Given the description of an element on the screen output the (x, y) to click on. 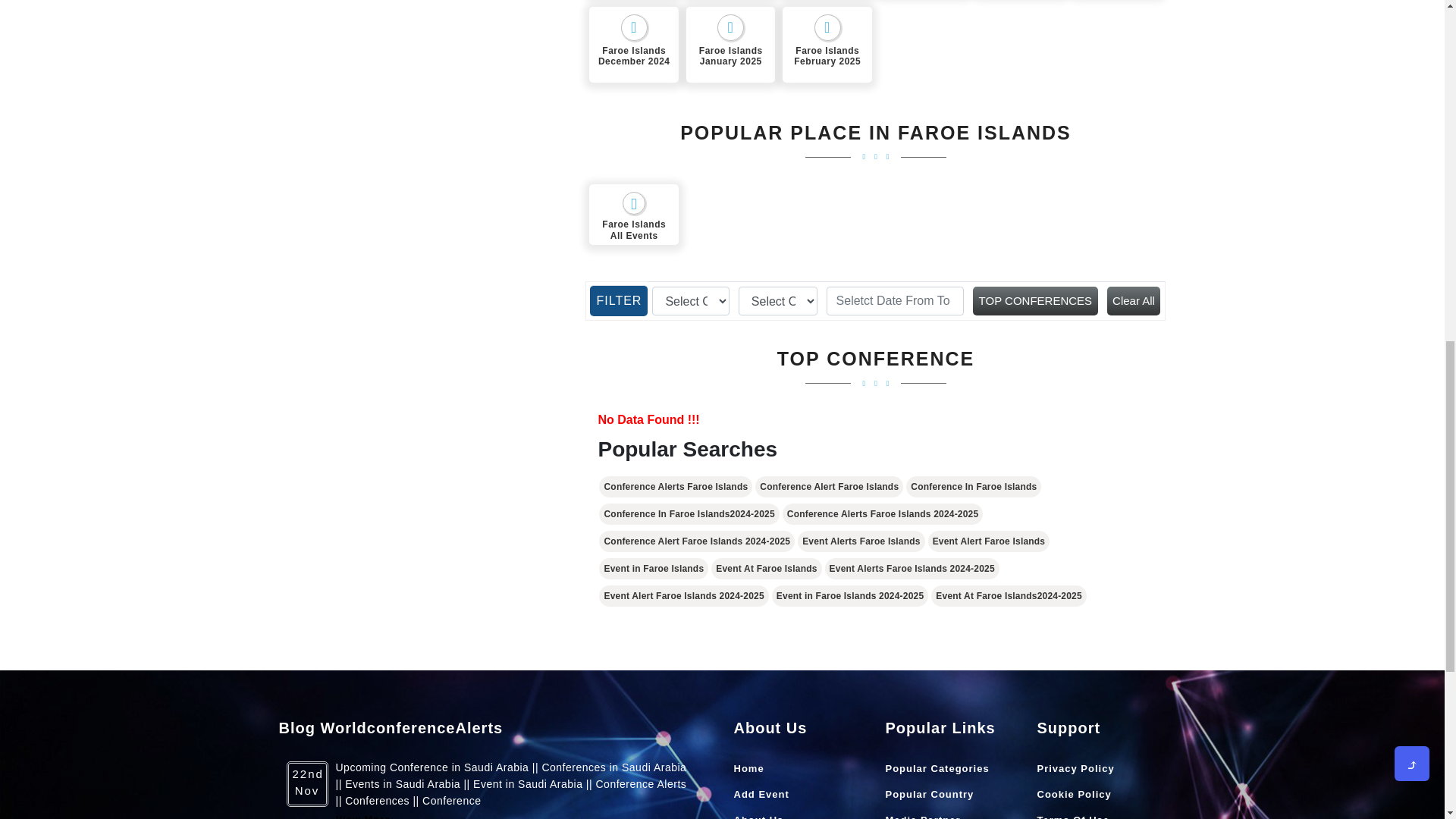
Event Alert  Faroe Islands (988, 541)
Conference Alert Faroe Islands (828, 486)
Event Alert Faroe Islands (988, 541)
Conference Alerts  Faroe Islands (675, 486)
Faroe Islands February 2025 (827, 44)
Conference In Faroe Islands (973, 486)
Conference Alert Faroe Islands (828, 486)
Conference In  Faroe Islands (973, 486)
Event Alert Faroe Islands 2024-2025 (683, 595)
Faroe Islands December 2024 (633, 44)
Event Alerts Faroe Islands 2024-2025 (911, 568)
Conference Alert Faroe Islands 2024-2025 (696, 541)
Conference Alert  Faroe Islands 2024-2025 (696, 541)
Event in Faroe Islands (652, 568)
